Given the description of an element on the screen output the (x, y) to click on. 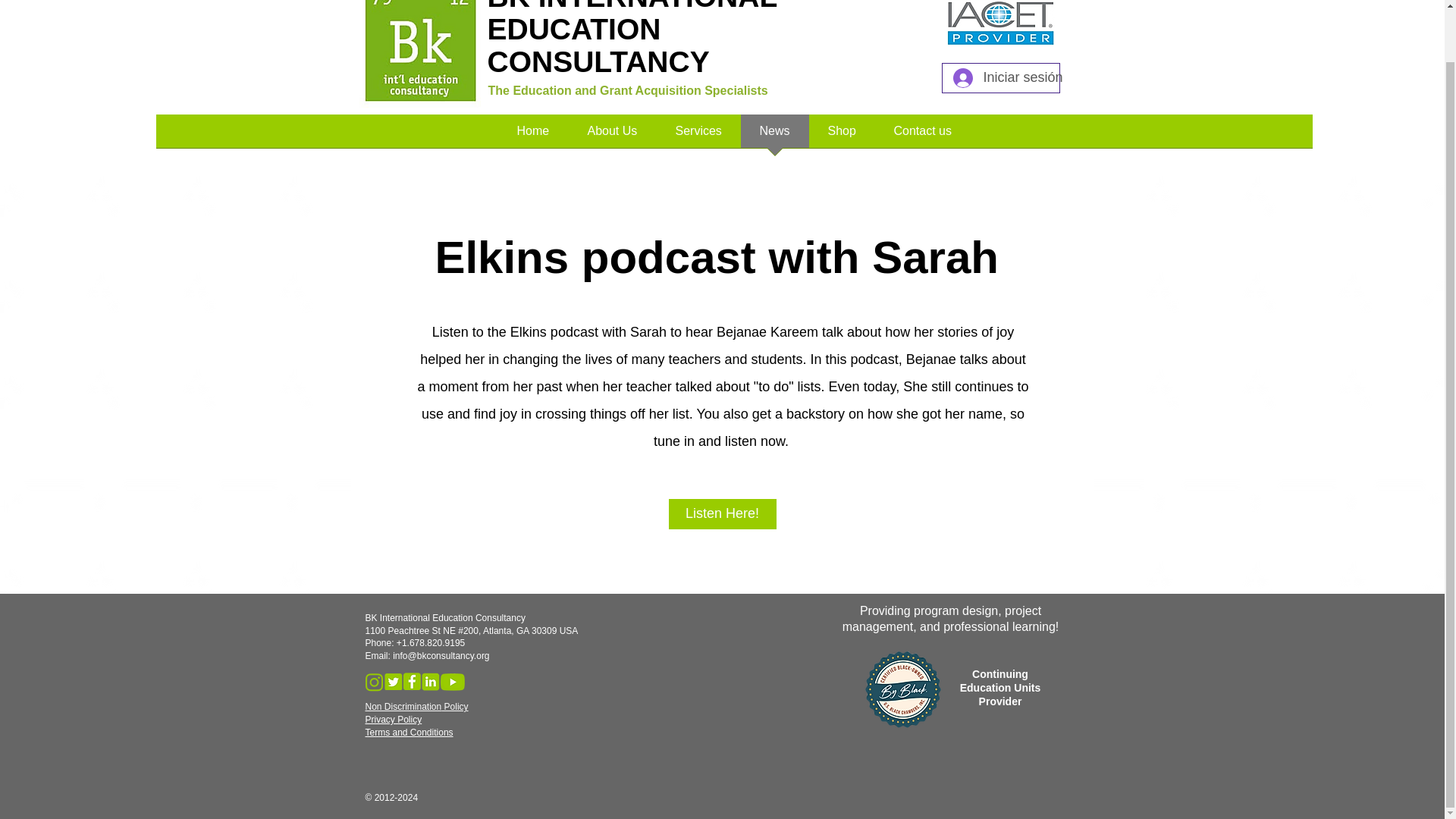
About Us (612, 136)
byblack-badge.jpg (901, 687)
Listen Here! (722, 513)
Contact us (923, 136)
Shop (841, 136)
News (773, 136)
BK Logo.svg (419, 53)
Non Discrimination Policy (416, 706)
Privacy Policy (393, 719)
Terms and Conditions (408, 732)
